Given the description of an element on the screen output the (x, y) to click on. 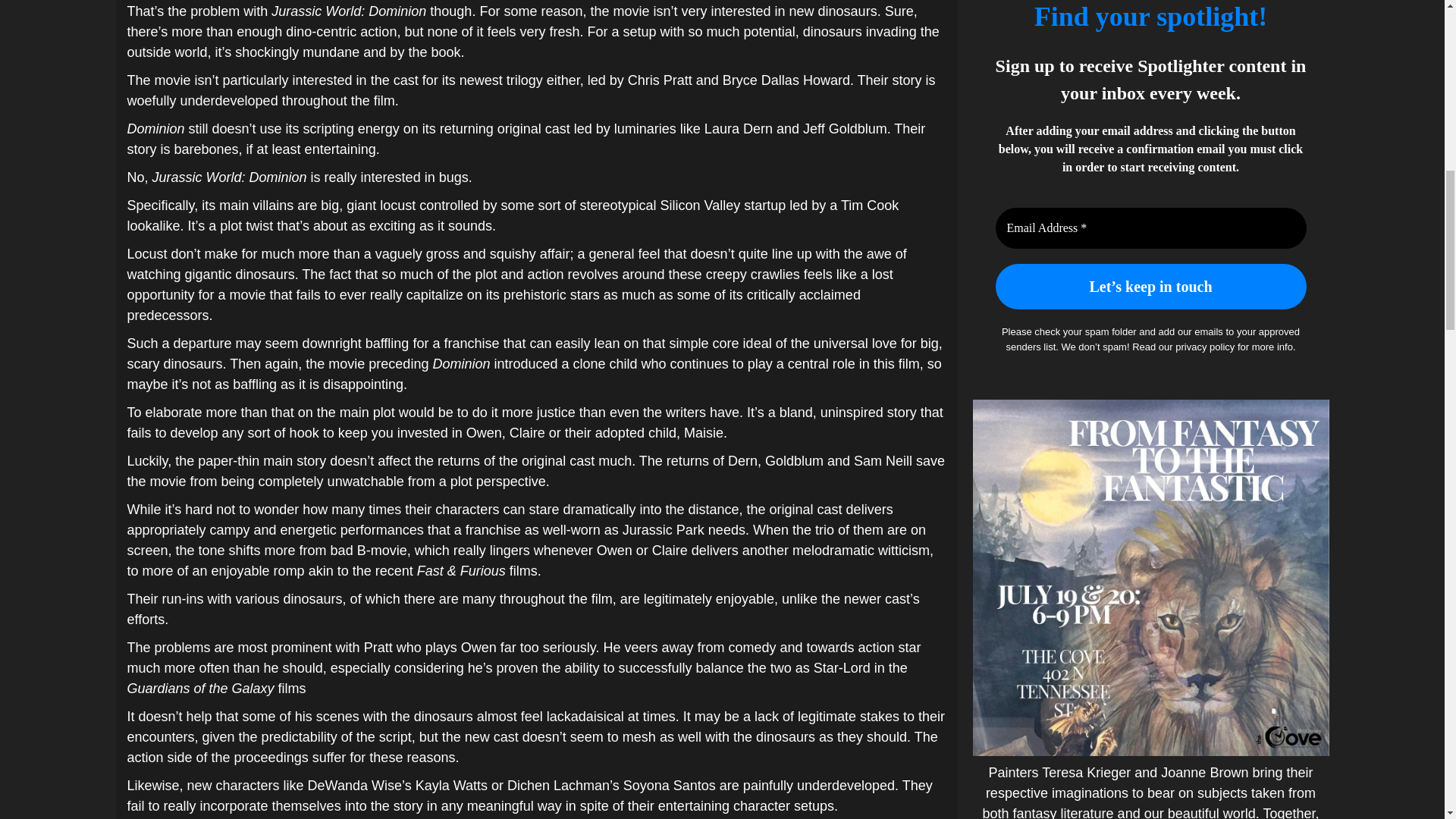
Email Address (1150, 228)
